Given the description of an element on the screen output the (x, y) to click on. 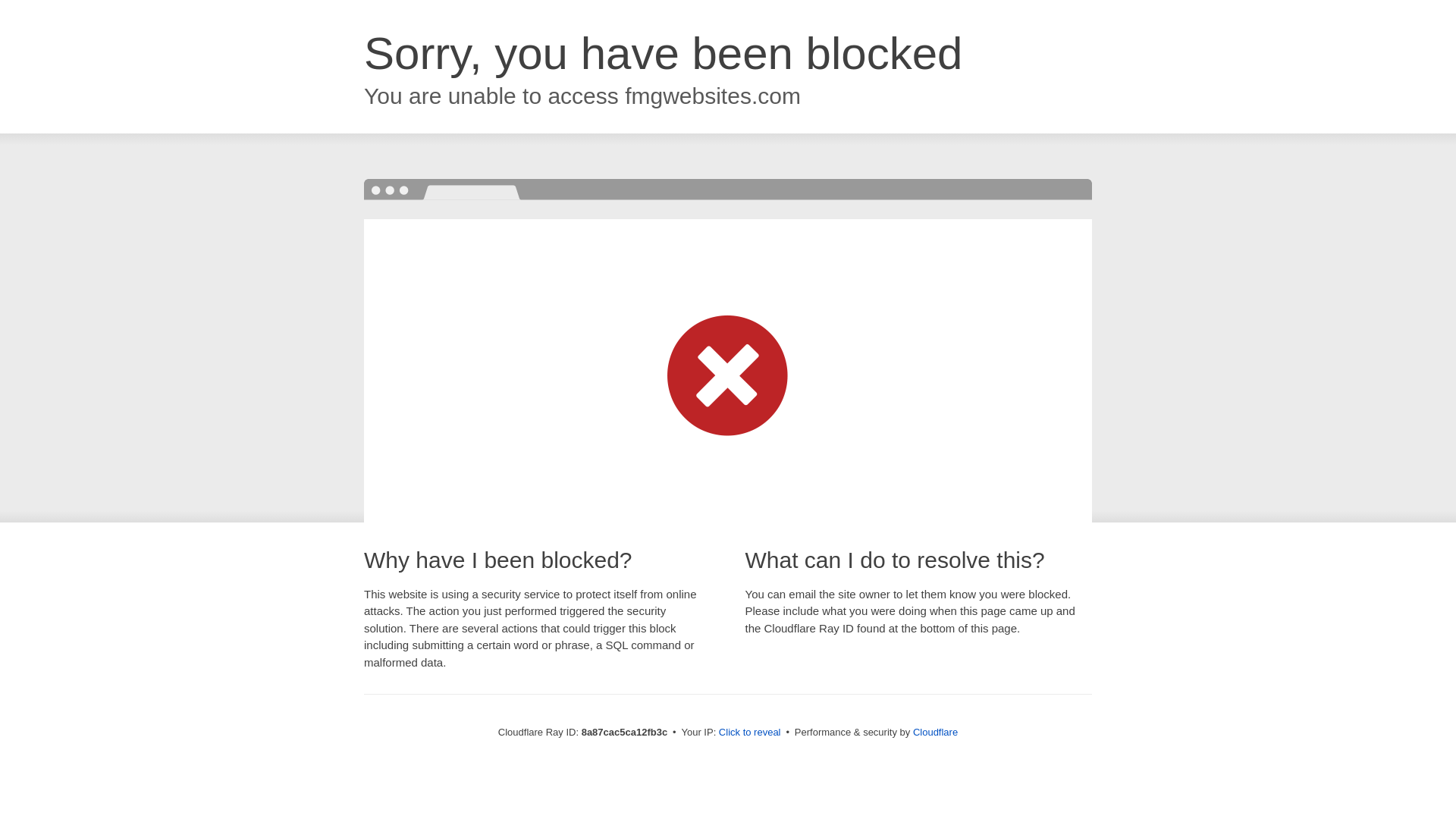
Click to reveal (749, 732)
Cloudflare (935, 731)
